Given the description of an element on the screen output the (x, y) to click on. 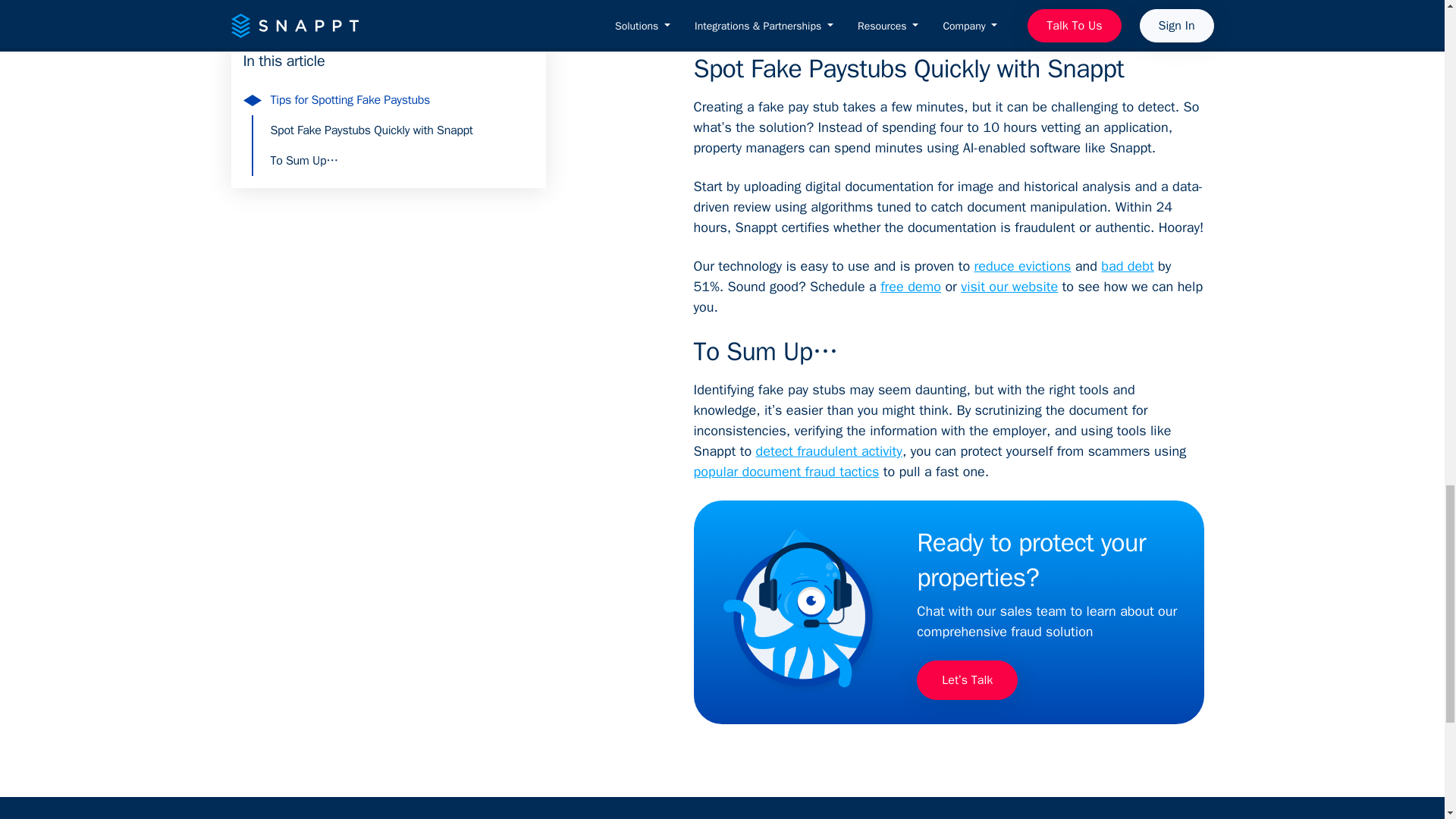
visit our website (1009, 286)
free demo (910, 286)
reduce evictions (1022, 265)
detect fraudulent activity (828, 451)
popular document fraud tactics (786, 471)
bad debt (1126, 265)
